Given the description of an element on the screen output the (x, y) to click on. 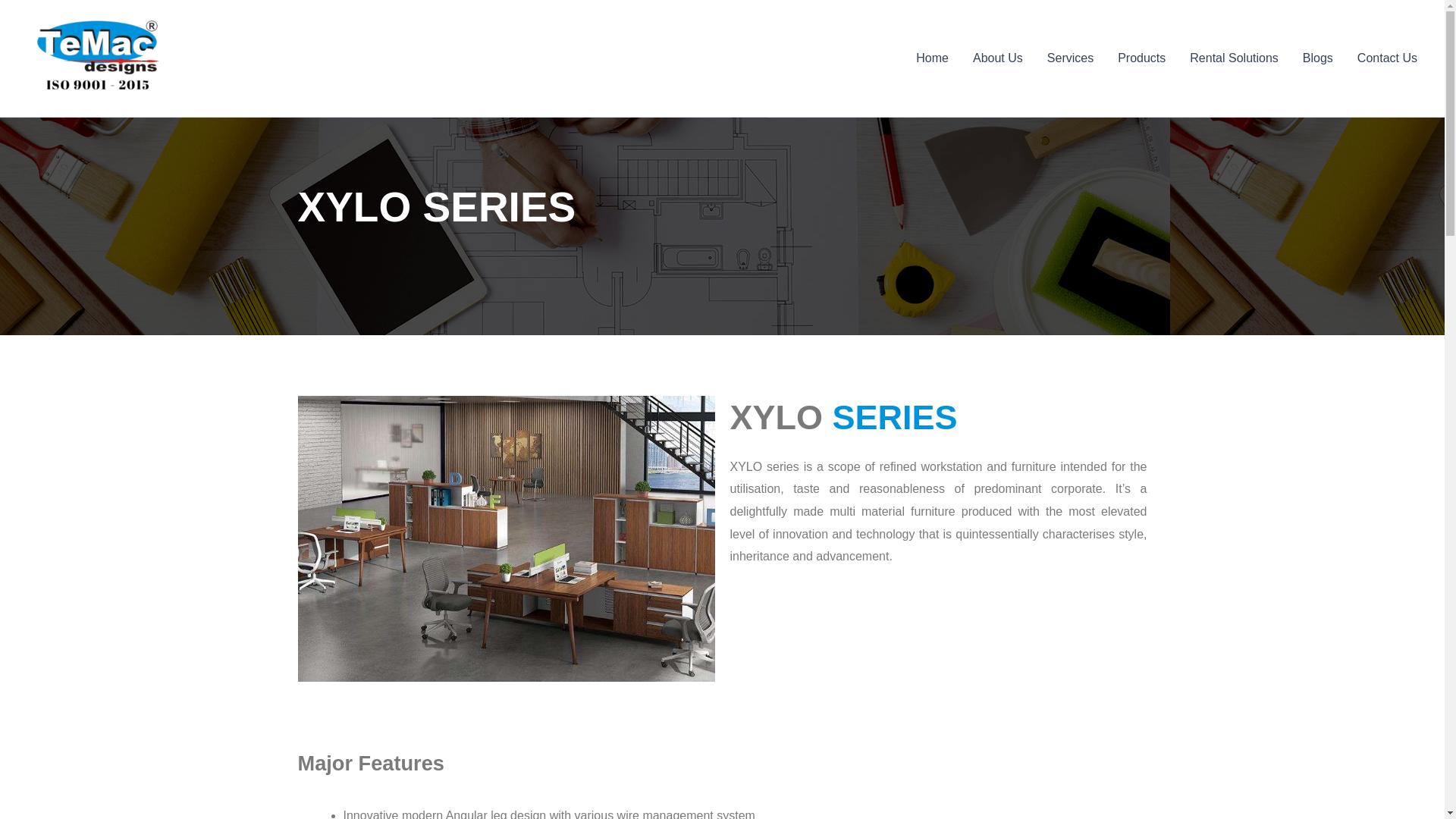
Home (932, 57)
Services (1070, 57)
Products (1141, 57)
Blogs (1317, 57)
Contact Us (1387, 57)
About Us (997, 57)
Rental Solutions (1233, 57)
